Given the description of an element on the screen output the (x, y) to click on. 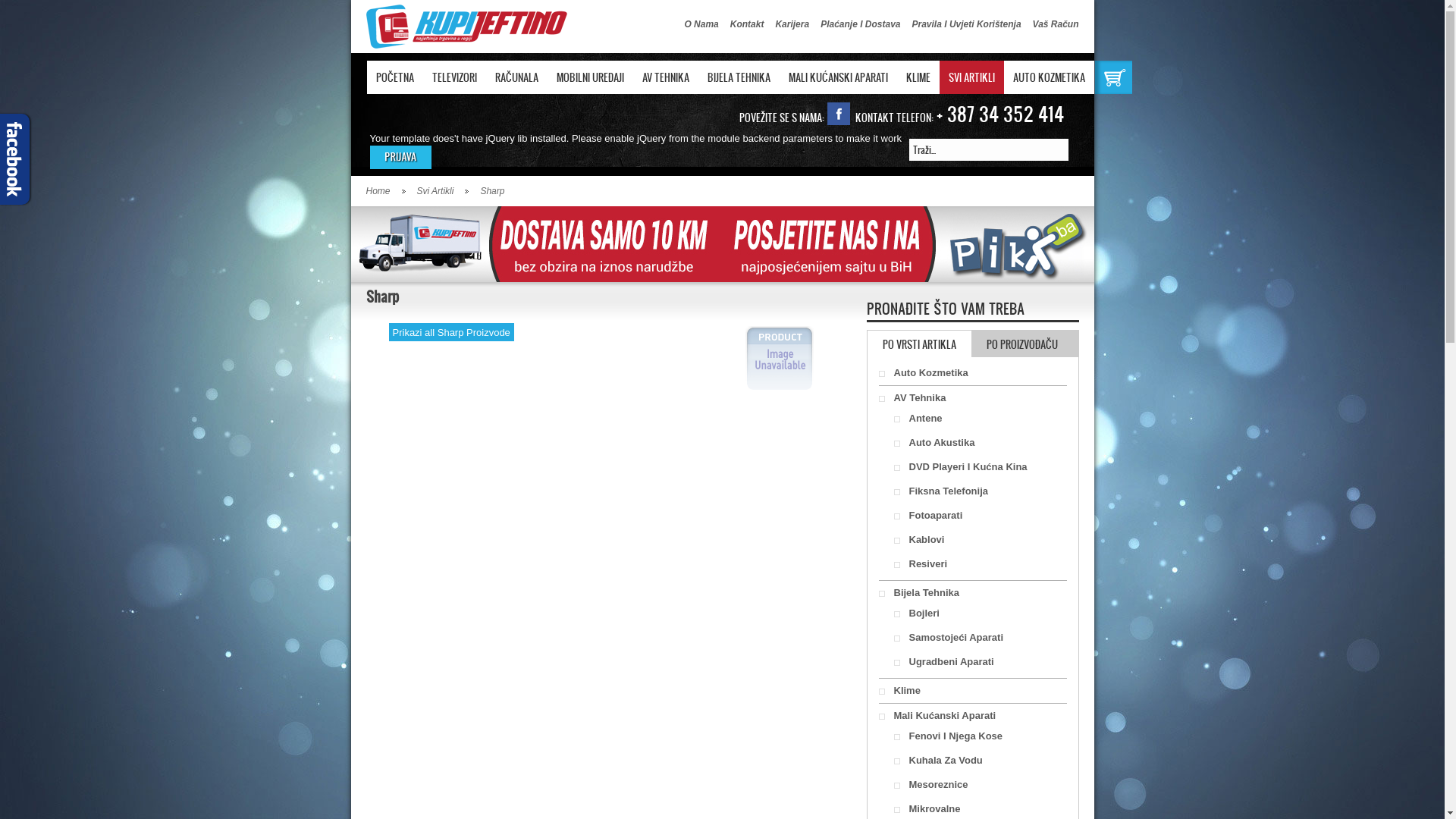
LOGIN Element type: text (400, 157)
Ugradbeni Aparati Element type: text (979, 661)
Fotoaparati Element type: text (979, 515)
Fiksna Telefonija Element type: text (979, 491)
Fenovi I Njega Kose Element type: text (979, 736)
Bijela Tehnika Element type: text (975, 592)
Antene Element type: text (979, 418)
Mesoreznice Element type: text (979, 784)
Kablovi Element type: text (979, 539)
AUTO KOZMETIKA Element type: text (1049, 76)
Kontakt Element type: text (747, 23)
Klime Element type: text (975, 690)
Bojleri Element type: text (979, 613)
KLIME Element type: text (917, 76)
Karijera Element type: text (792, 23)
O Nama Element type: text (701, 23)
Mikrovalne Element type: text (979, 808)
SVI ARTIKLI Element type: text (970, 76)
Kuhala Za Vodu Element type: text (979, 760)
Auto Kozmetika Element type: text (975, 372)
Resiveri Element type: text (979, 563)
TELEVIZORI Element type: text (454, 76)
Home Element type: text (384, 190)
AV Tehnika Element type: text (975, 397)
BIJELA TEHNIKA Element type: text (737, 76)
Svi Artikli Element type: text (443, 190)
Prikazi all Sharp Proizvode Element type: text (450, 332)
AV TEHNIKA Element type: text (664, 76)
Auto Akustika Element type: text (979, 442)
